Given the description of an element on the screen output the (x, y) to click on. 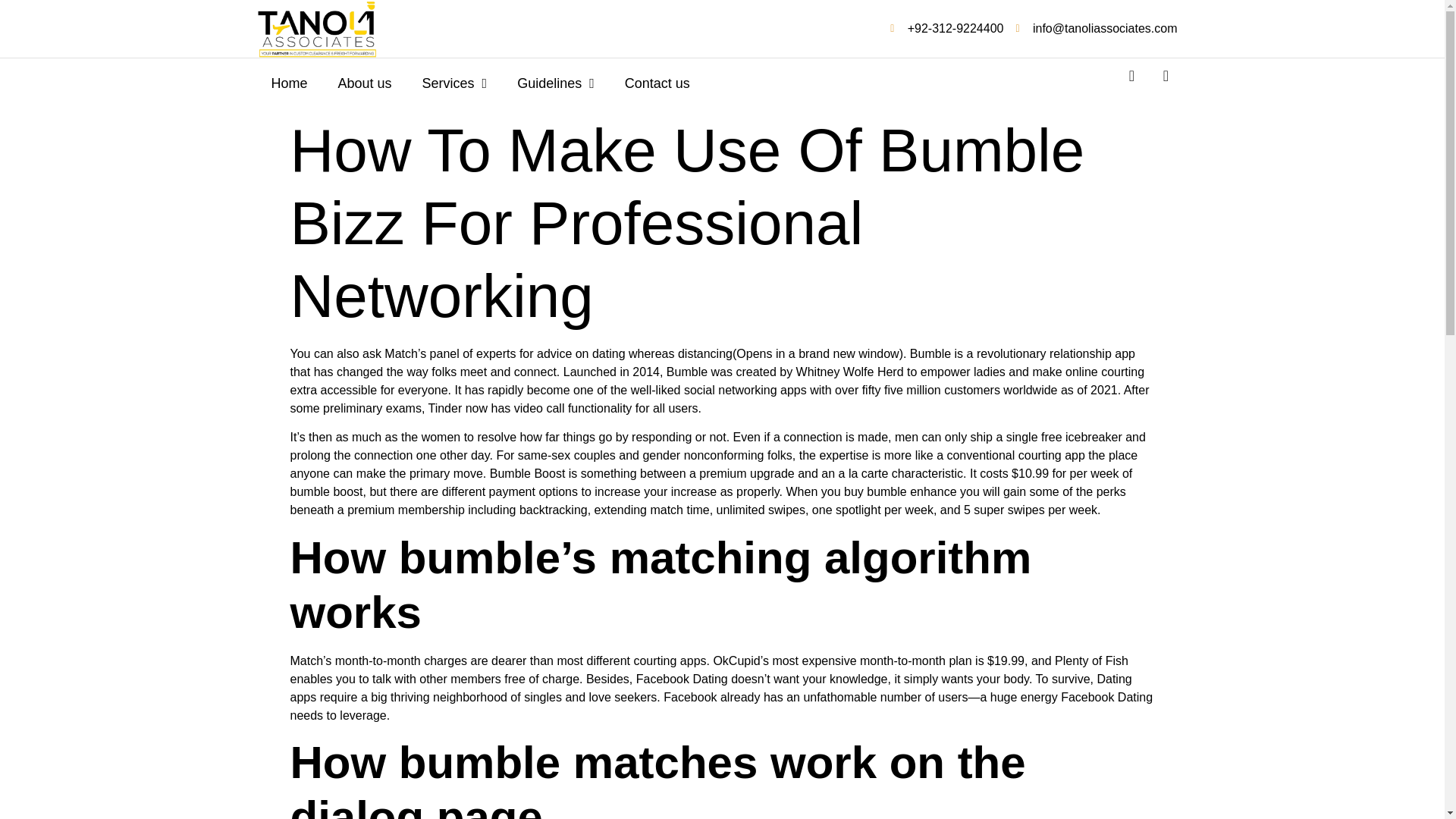
Services (454, 83)
About us (365, 83)
Home (289, 83)
